Given the description of an element on the screen output the (x, y) to click on. 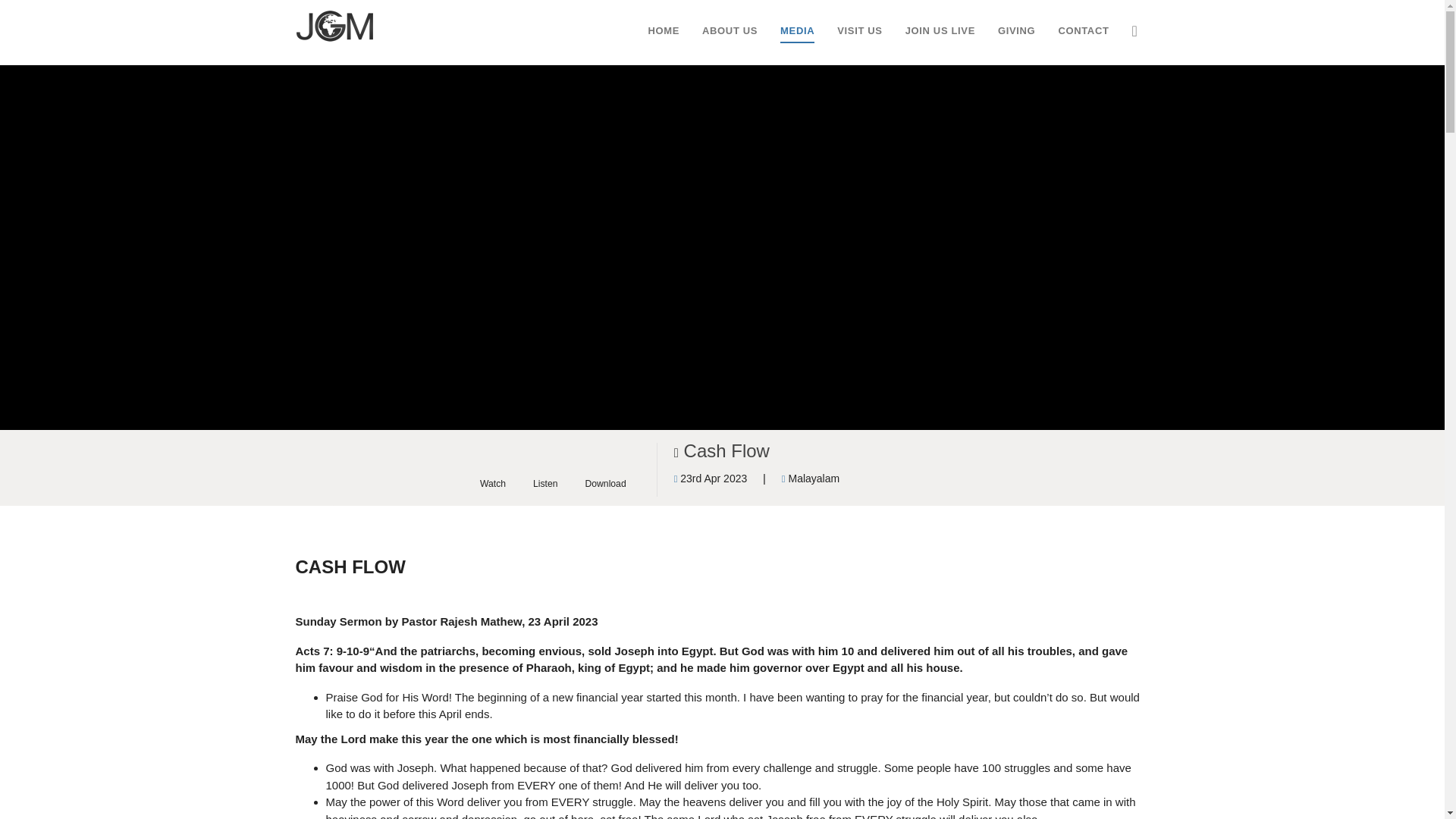
Download (605, 467)
ABOUT US (729, 31)
JOIN US LIVE (940, 31)
